Given the description of an element on the screen output the (x, y) to click on. 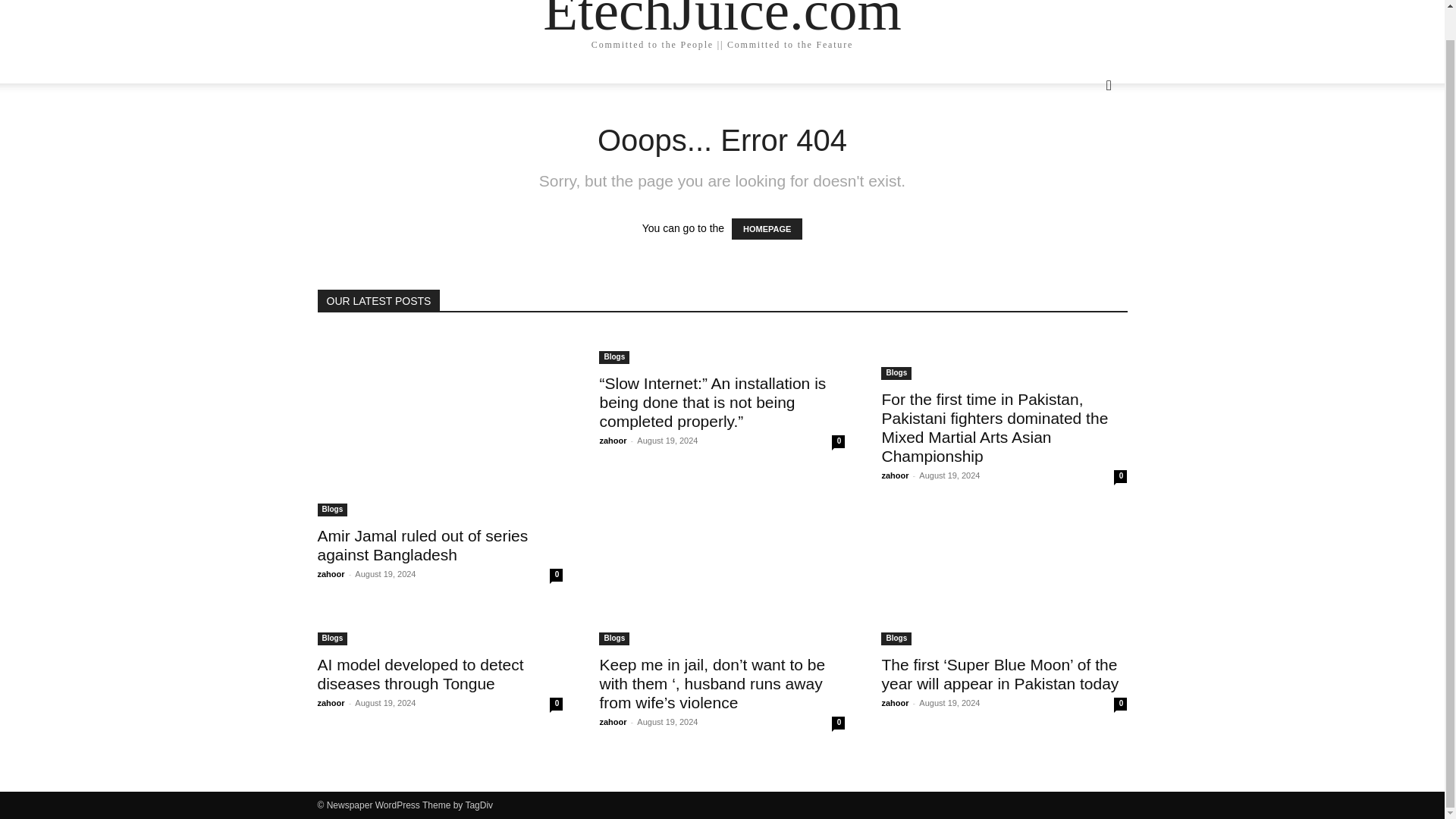
Amir Jamal ruled out of series against Bangladesh (422, 545)
EtechJuice.com (722, 19)
zahoor (330, 573)
Amir Jamal ruled out of series against Bangladesh (439, 424)
Amir Jamal ruled out of series against Bangladesh (422, 545)
zahoor (894, 702)
zahoor (894, 474)
Blogs (332, 638)
Search (1085, 146)
